Given the description of an element on the screen output the (x, y) to click on. 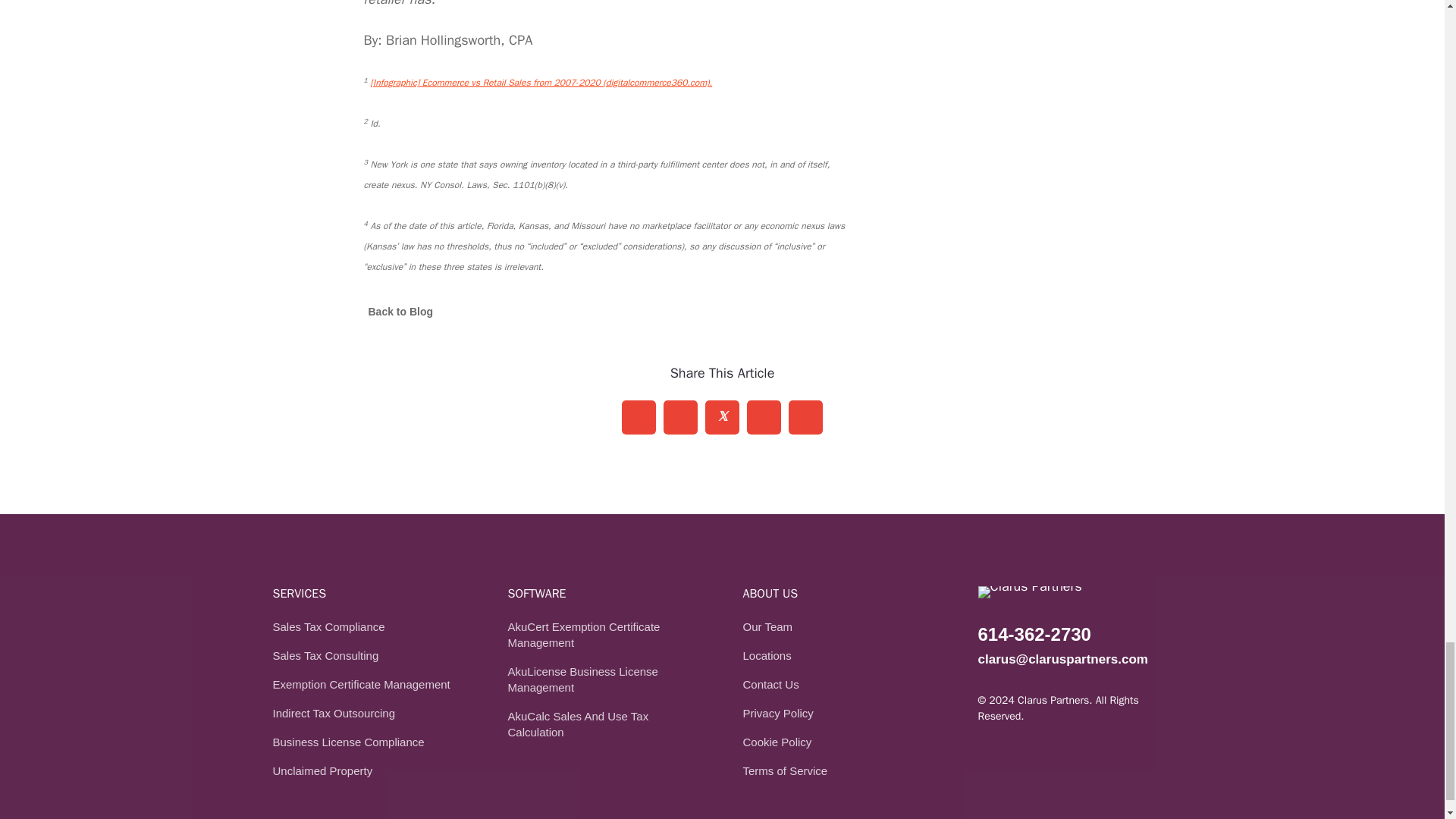
logo (1029, 592)
